Given the description of an element on the screen output the (x, y) to click on. 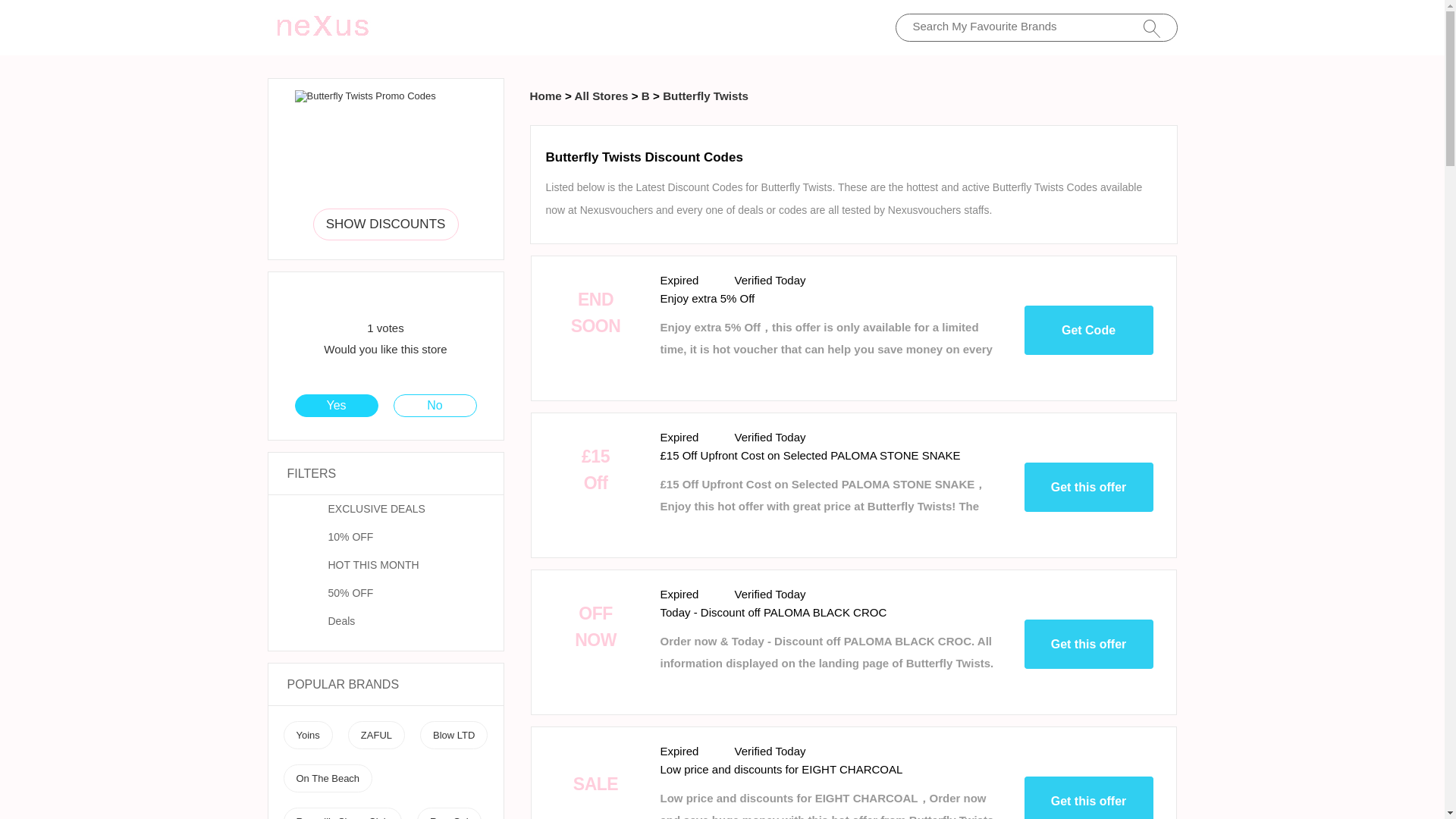
On The Beach (327, 778)
Yoins (306, 735)
5 star out of 5 (384, 298)
1 star out of 5 (346, 298)
4 star out of 5 (375, 298)
SHOW DISCOUNTS (385, 223)
ZAFUL (376, 735)
2 star out of 5 (356, 298)
Yes (336, 405)
RoseGal (448, 817)
No (435, 405)
3 star out of 5 (365, 298)
Blow LTD (453, 735)
